Given the description of an element on the screen output the (x, y) to click on. 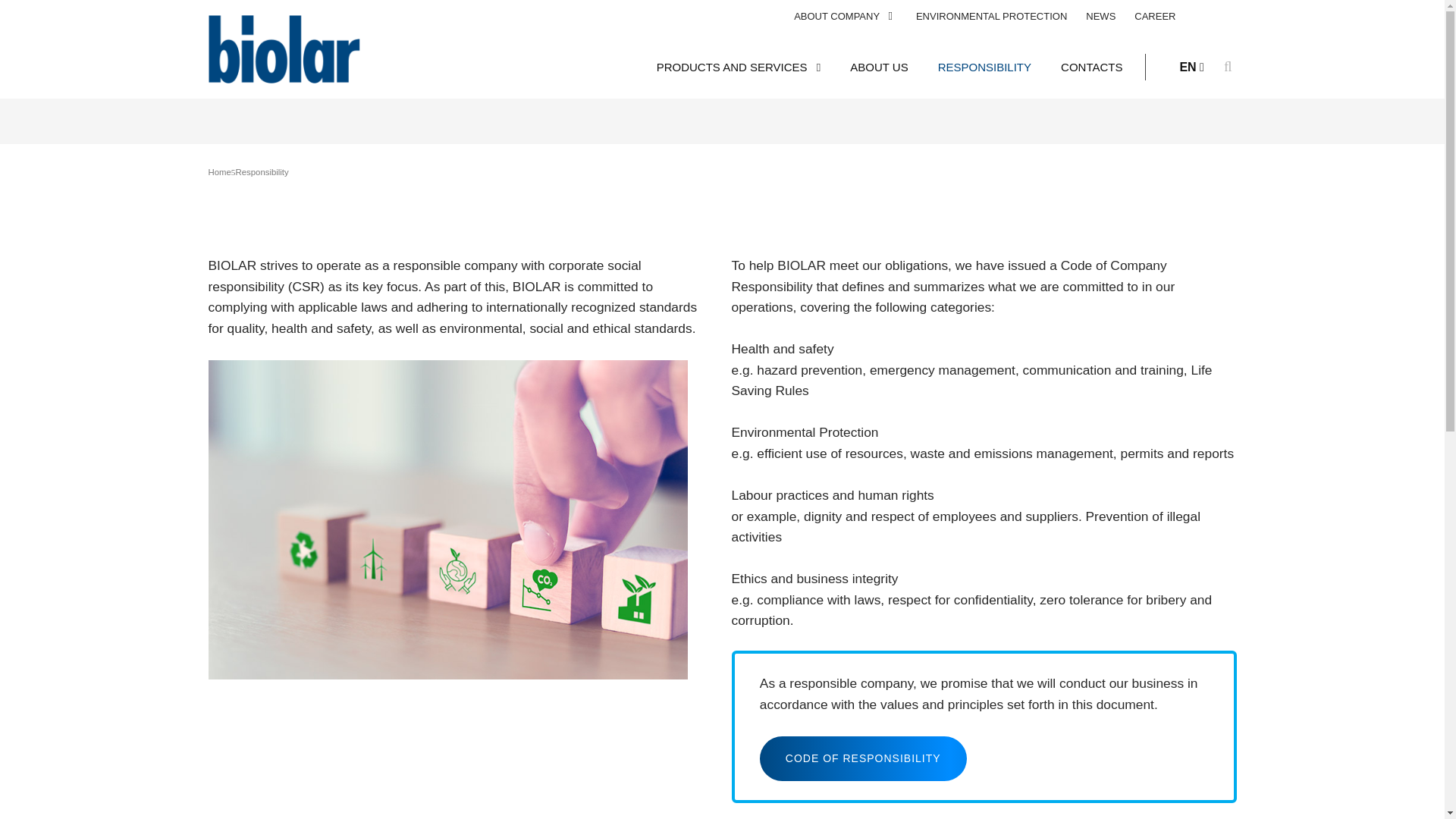
ENVIRONMENTAL PROTECTION (991, 16)
CAREER (1154, 16)
ABOUT US (878, 67)
PRODUCTS AND SERVICES (738, 67)
RESPONSIBILITY (983, 67)
CONTACTS (1091, 67)
NEWS (1100, 16)
ABOUT COMPANY (844, 16)
